Given the description of an element on the screen output the (x, y) to click on. 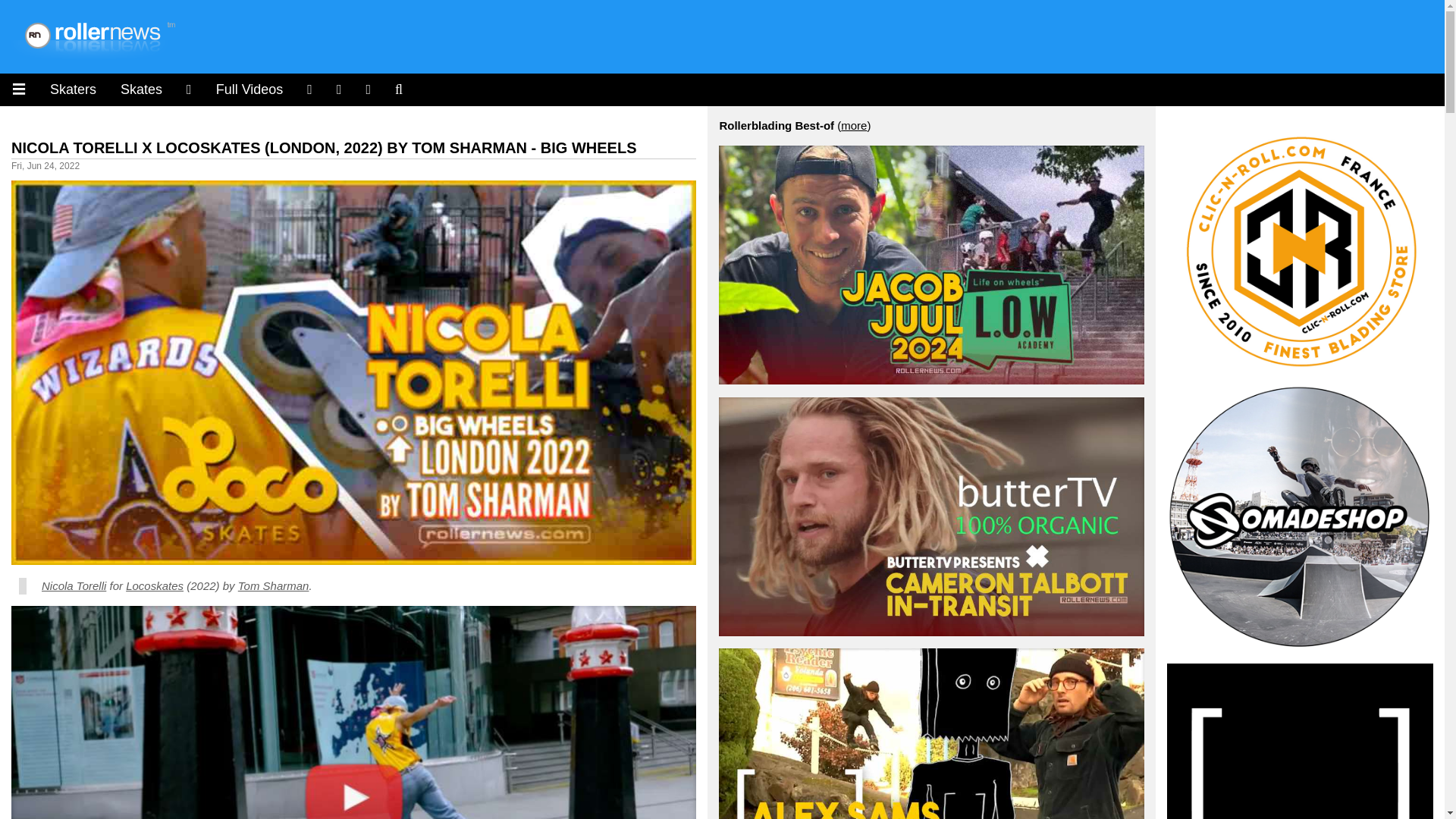
Locoskates (154, 585)
Full Videos (249, 88)
Skates (140, 88)
Facebook (338, 88)
Tom Sharman (273, 585)
Twitter (368, 88)
Instagram (309, 88)
Search (398, 88)
Nicola Torelli (74, 585)
Instagram (188, 88)
Skaters (72, 88)
